Given the description of an element on the screen output the (x, y) to click on. 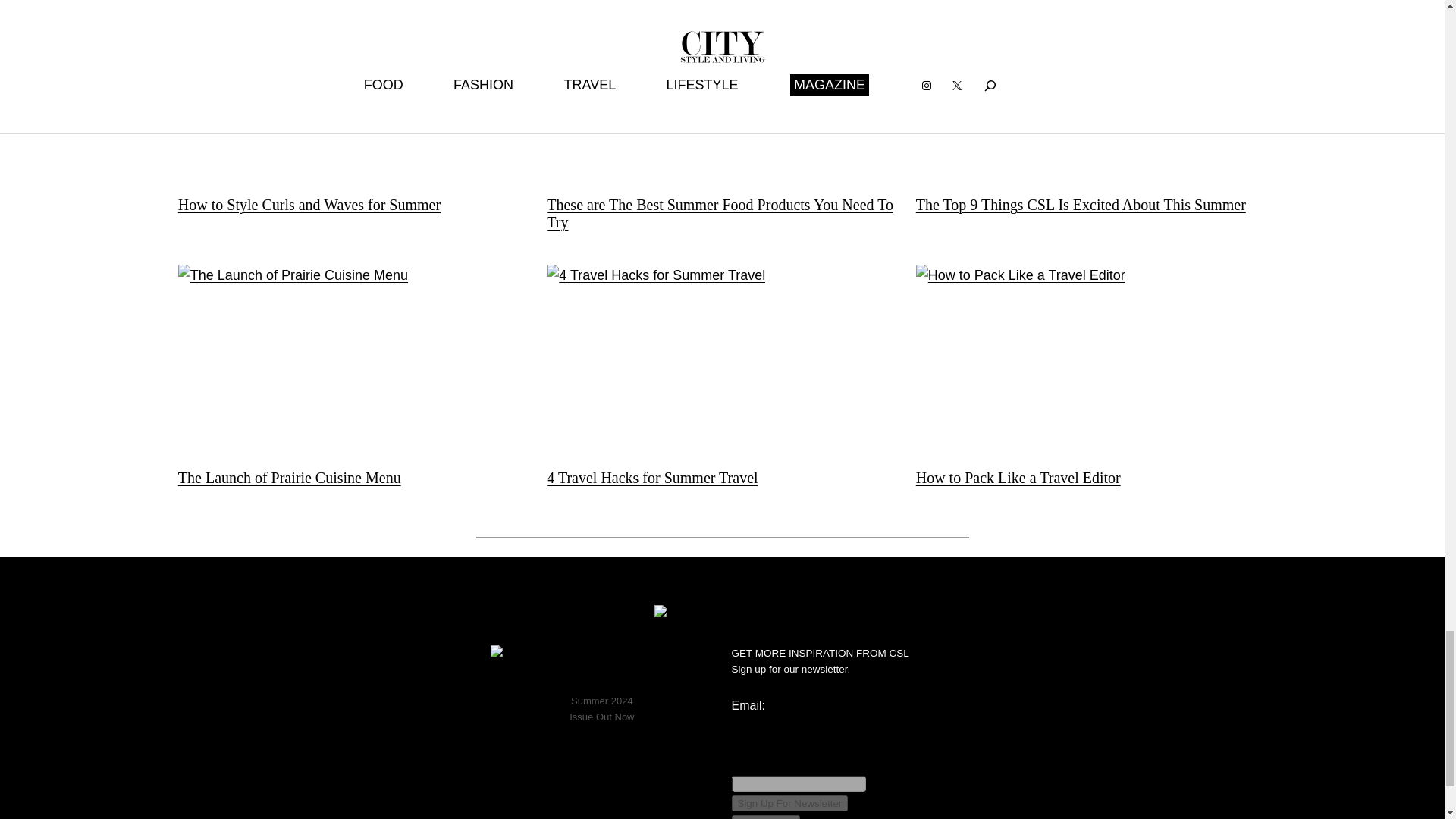
Unsubscribe (764, 816)
City Style and Living New Issue Available Now (601, 667)
Sign Up For Newsletter (788, 803)
